Given the description of an element on the screen output the (x, y) to click on. 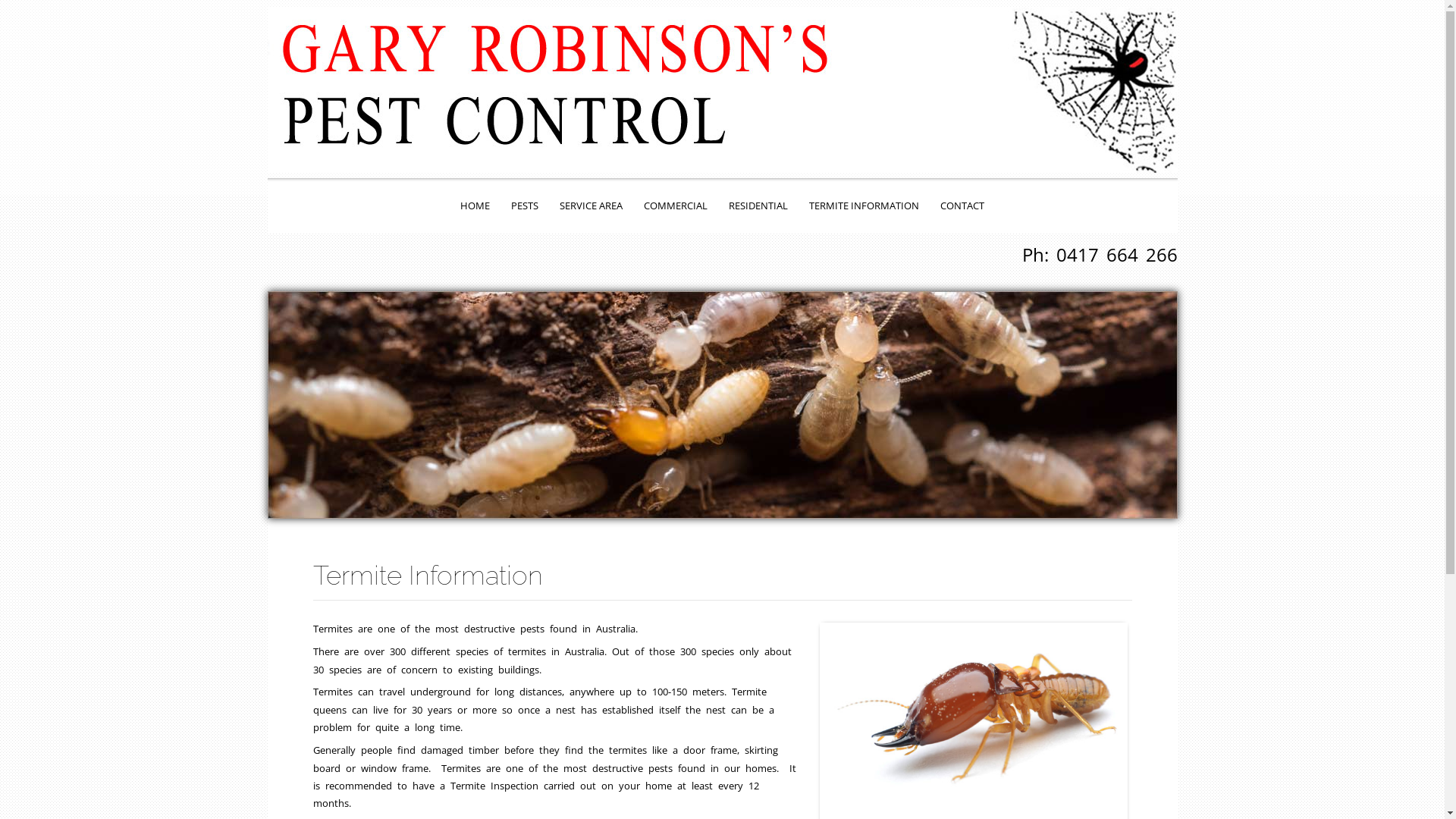
HOME Element type: text (474, 205)
CONTACT Element type: text (961, 205)
PESTS Element type: text (524, 205)
COMMERCIAL Element type: text (675, 205)
TERMITE INFORMATION Element type: text (863, 205)
RESIDENTIAL Element type: text (758, 205)
0417 664 266 Element type: text (1115, 253)
SERVICE AREA Element type: text (591, 205)
